Given the description of an element on the screen output the (x, y) to click on. 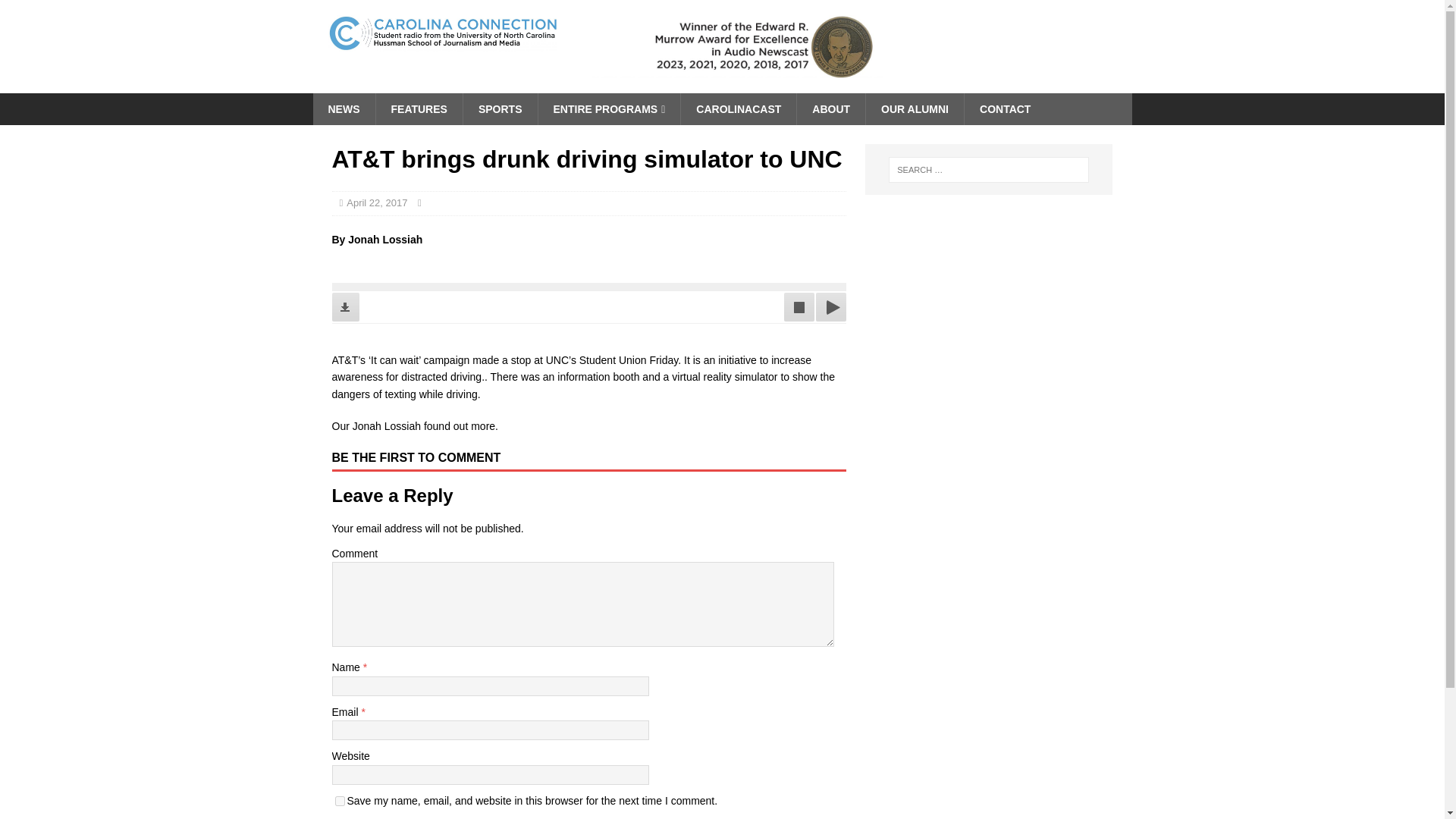
Search (56, 11)
CAROLINACAST (737, 109)
ABOUT (830, 109)
SPORTS (500, 109)
OUR ALUMNI (913, 109)
April 22, 2017 (376, 202)
FEATURES (417, 109)
CONTACT (1004, 109)
ENTIRE PROGRAMS (608, 109)
yes (339, 800)
NEWS (343, 109)
